Given the description of an element on the screen output the (x, y) to click on. 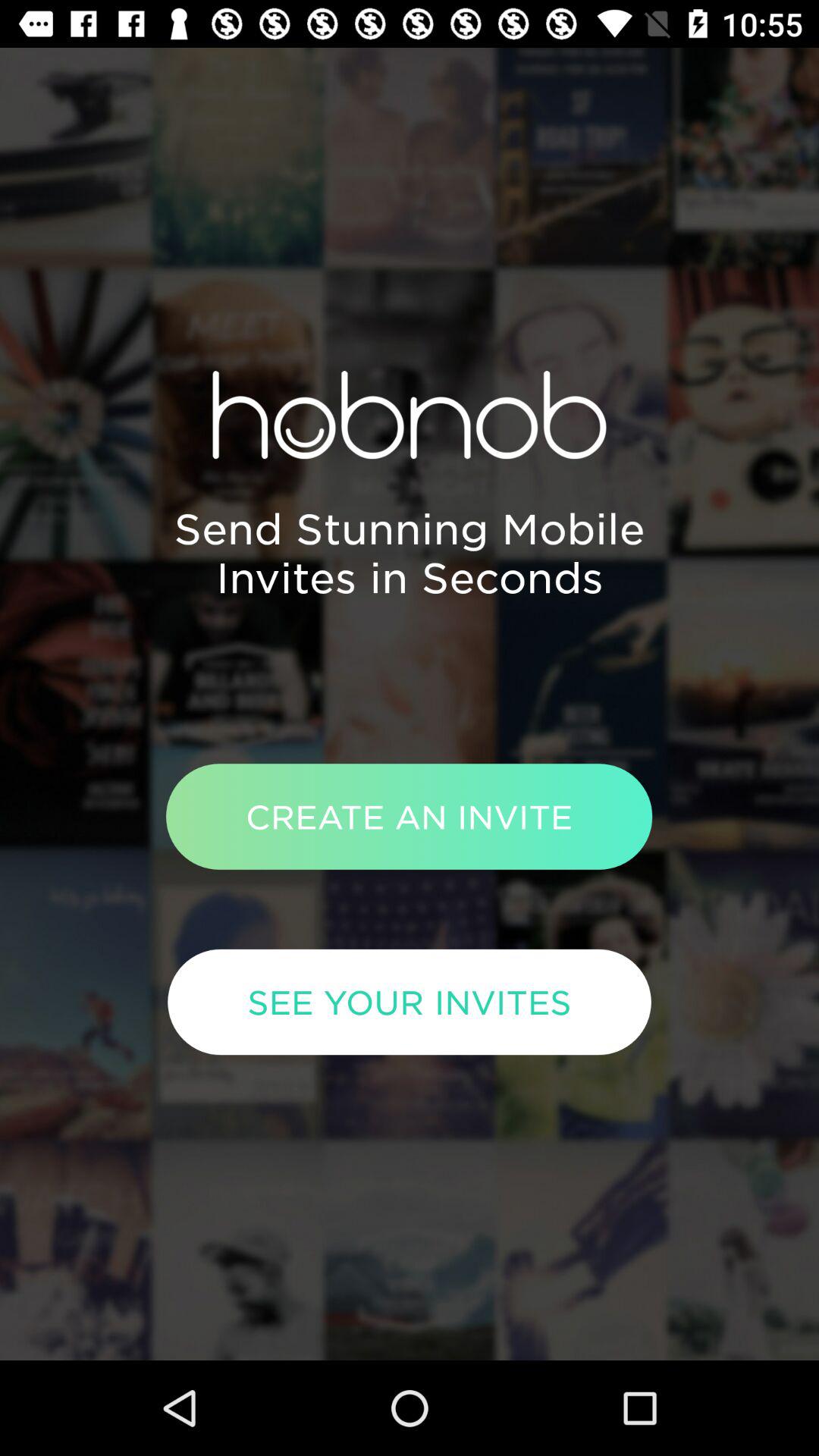
turn on the create an invite item (409, 816)
